Given the description of an element on the screen output the (x, y) to click on. 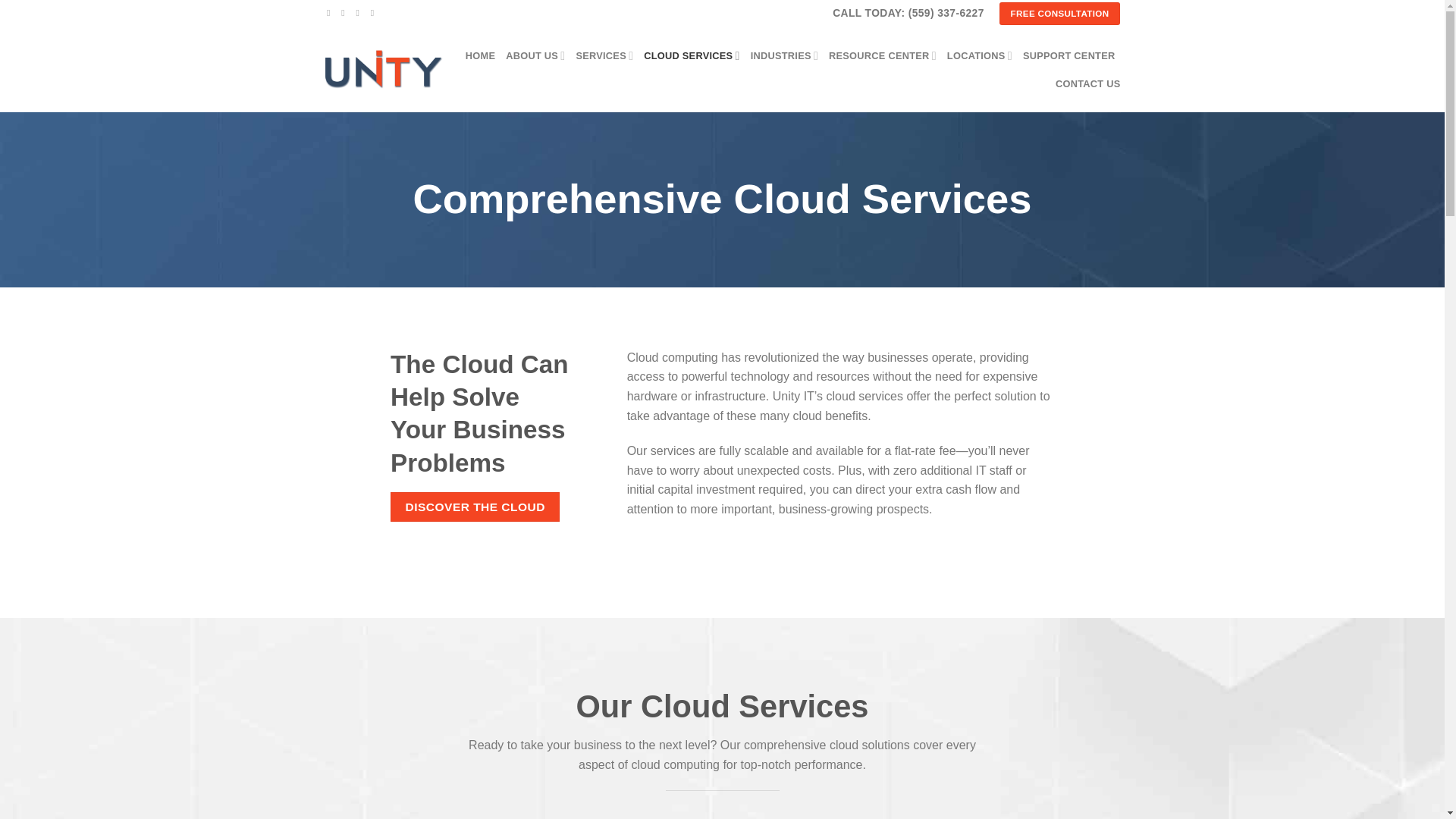
HOME (480, 55)
ABOUT US (534, 55)
CLOUD SERVICES (691, 55)
CONTACT US (1088, 83)
INDUSTRIES (784, 55)
FREE CONSULTATION (1059, 13)
SERVICES (604, 55)
LOCATIONS (979, 55)
RESOURCE CENTER (882, 55)
Unity IT - Fresno IT Services (383, 68)
SUPPORT CENTER (1069, 55)
